Given the description of an element on the screen output the (x, y) to click on. 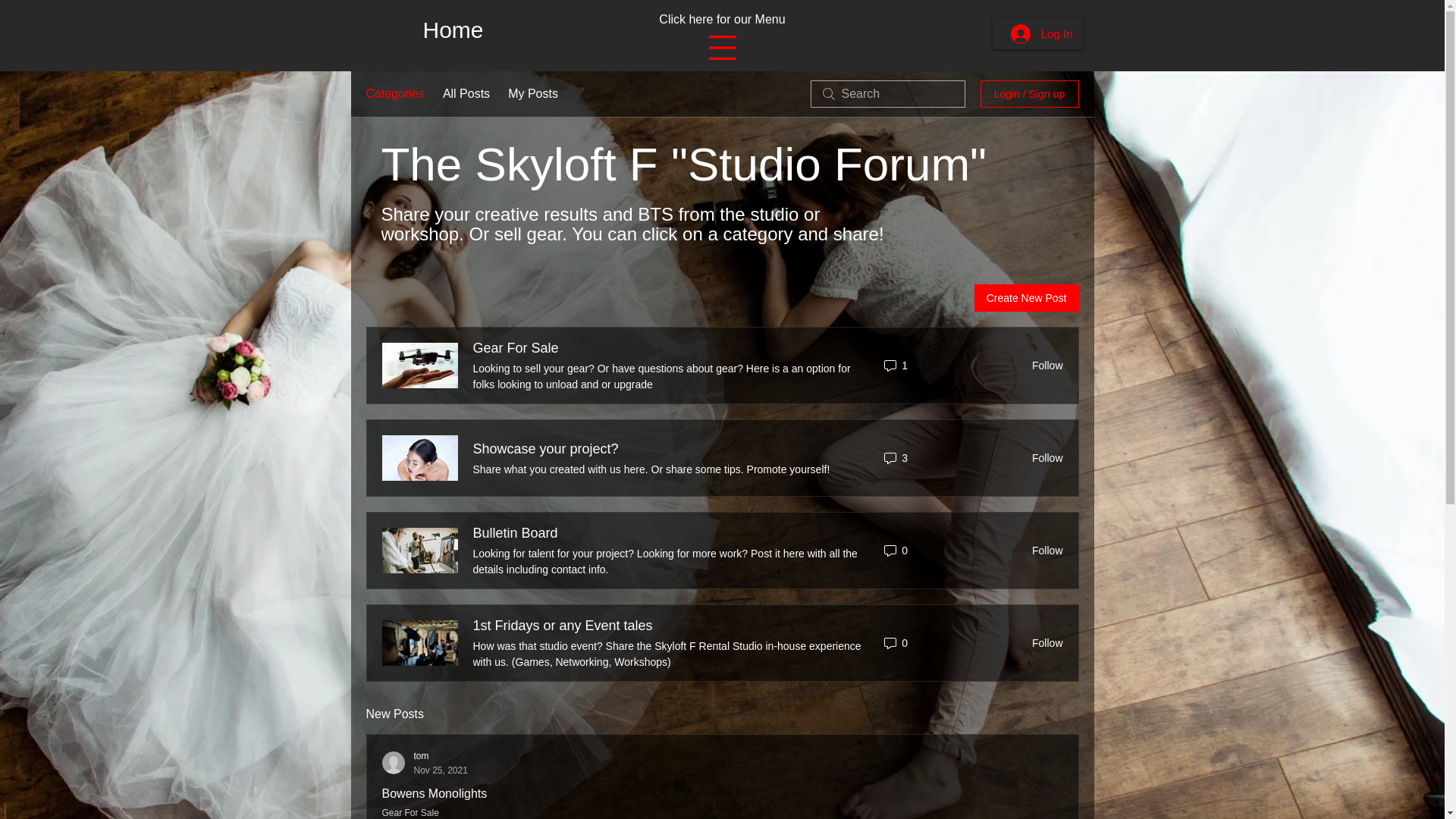
Follow (1042, 365)
Follow (424, 762)
All Posts (1042, 643)
Showcase your project? (465, 94)
Categories (545, 448)
Follow (394, 94)
Create New Post (1042, 458)
Bulletin Board (1026, 298)
Home (515, 533)
Follow (453, 29)
My Posts (1042, 550)
Bowens Monolights (532, 94)
Gear For Sale (434, 793)
Log In (516, 348)
